Given the description of an element on the screen output the (x, y) to click on. 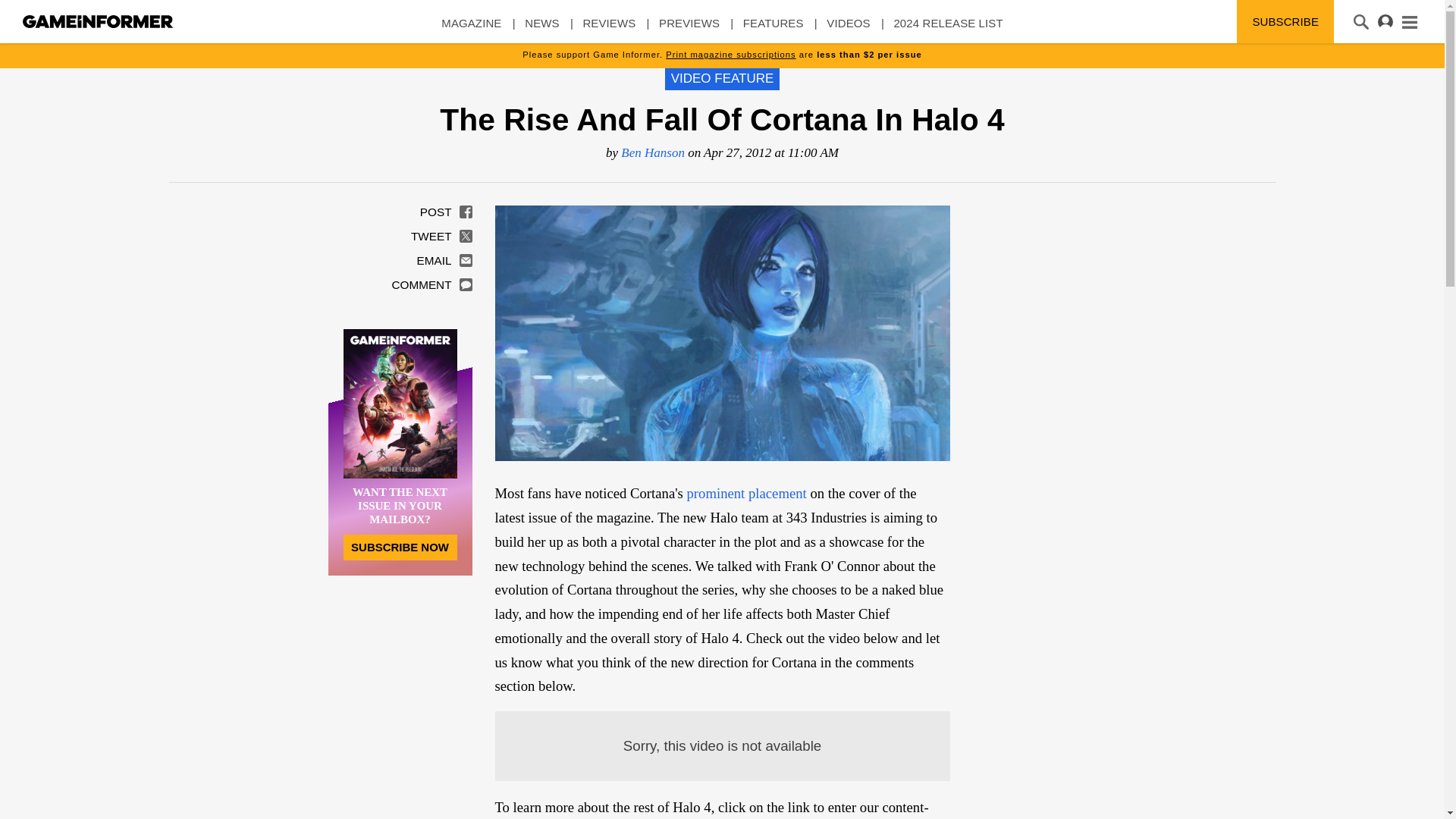
VIDEOS (848, 29)
PREVIEWS (689, 29)
2024 RELEASE LIST (948, 29)
SUBSCRIBE (1284, 21)
FEATURES (772, 29)
NEWS (541, 29)
MAGAZINE (470, 29)
REVIEWS (608, 29)
Search (32, 13)
